Given the description of an element on the screen output the (x, y) to click on. 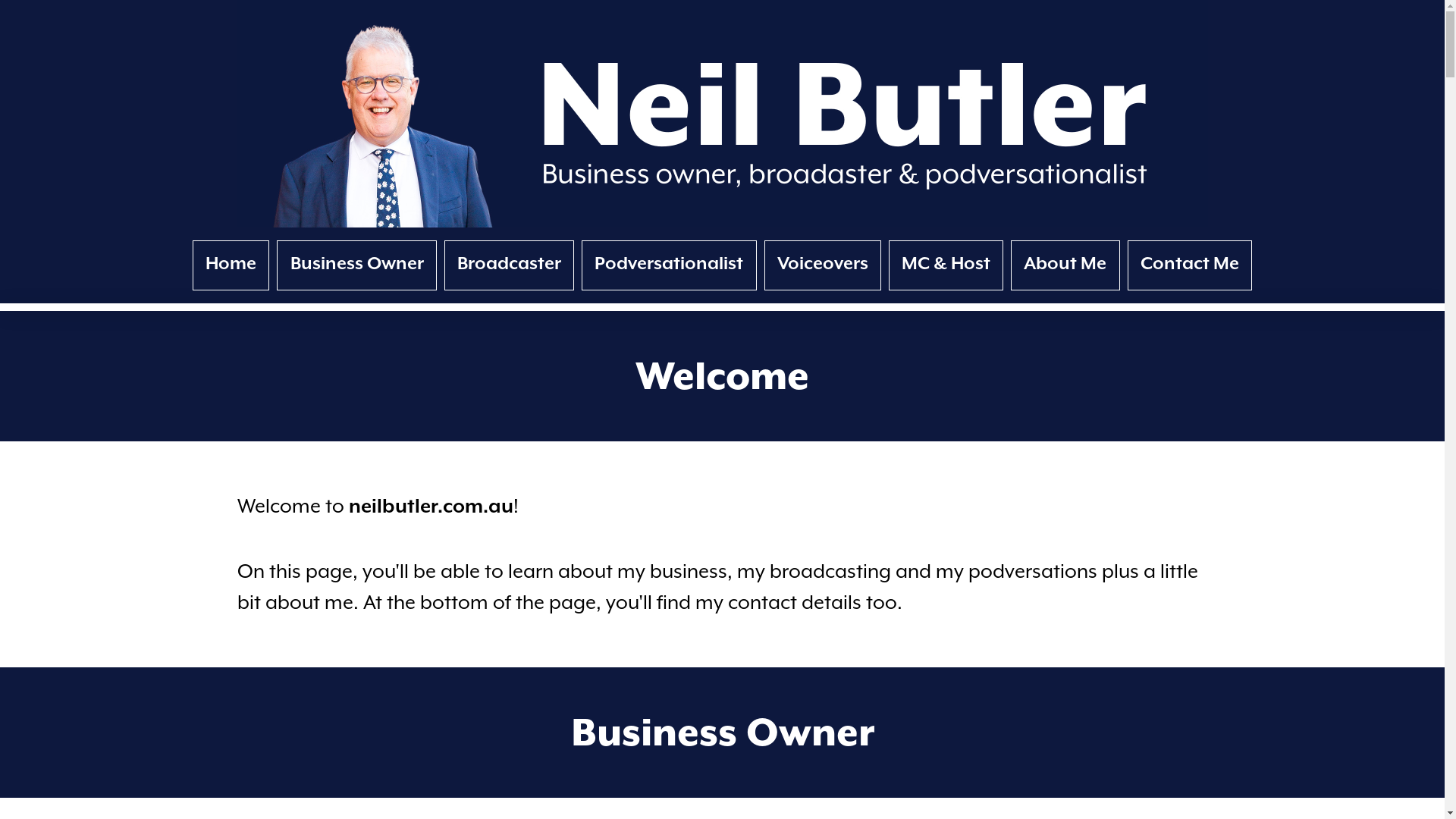
Home Element type: text (230, 265)
Podversationalist Element type: text (668, 265)
Broadcaster Element type: text (509, 265)
Voiceovers Element type: text (822, 265)
About Me Element type: text (1064, 265)
MC & Host Element type: text (945, 265)
Business Owner Element type: text (356, 265)
Contact Me Element type: text (1189, 265)
